Given the description of an element on the screen output the (x, y) to click on. 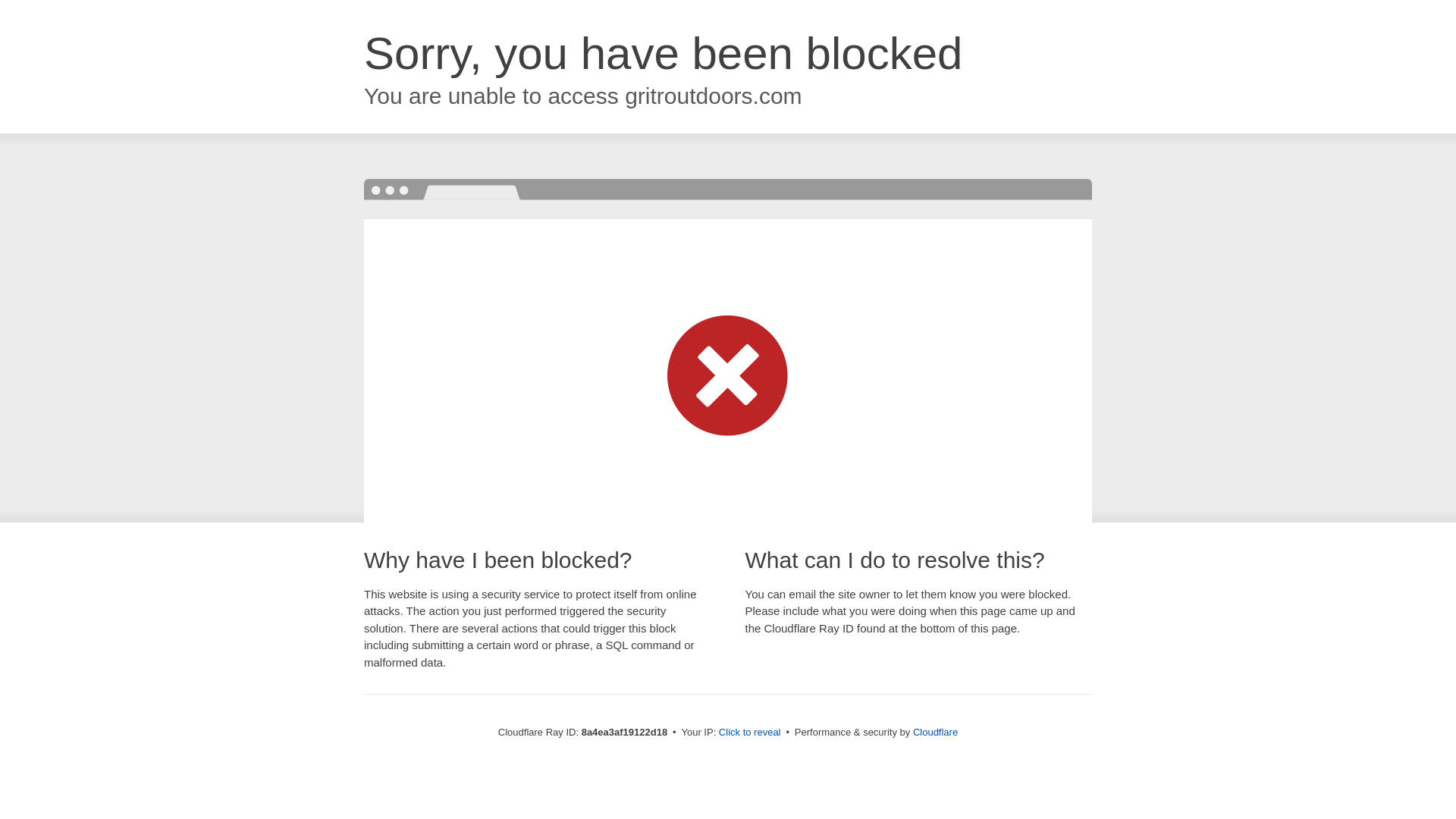
Cloudflare (935, 731)
Click to reveal (749, 732)
